Given the description of an element on the screen output the (x, y) to click on. 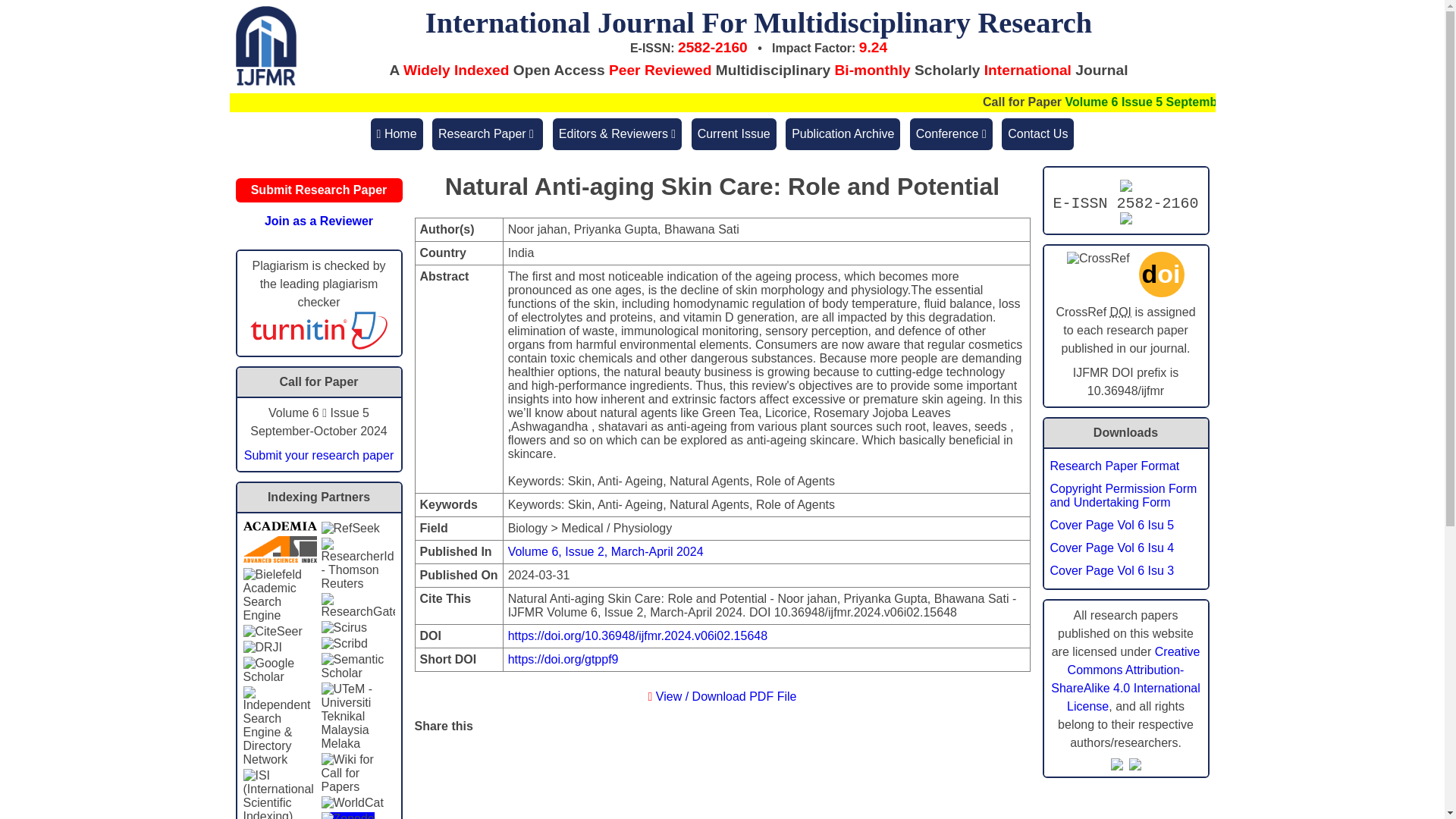
ResearcherId - Thomson Reuters (357, 563)
Current Issue (733, 133)
DRJI (262, 647)
Scirus (343, 627)
Bielefeld Academic Search Engine (279, 595)
Scribd (344, 643)
ResearchGate (357, 605)
CiteSeer (272, 631)
Join as a Reviewer (317, 221)
Advanced Sciences Index (279, 549)
